Given the description of an element on the screen output the (x, y) to click on. 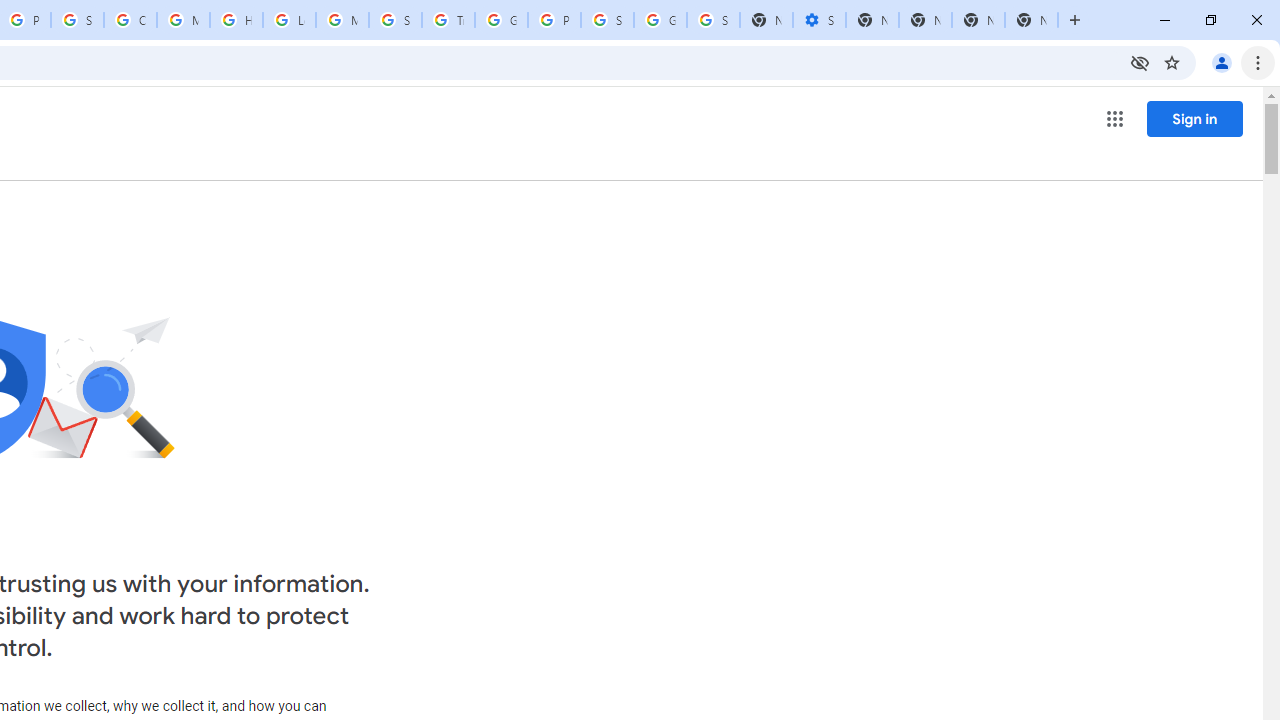
Sign in - Google Accounts (77, 20)
Settings - Performance (819, 20)
Google apps (1114, 118)
Sign in - Google Accounts (713, 20)
New Tab (1031, 20)
